Given the description of an element on the screen output the (x, y) to click on. 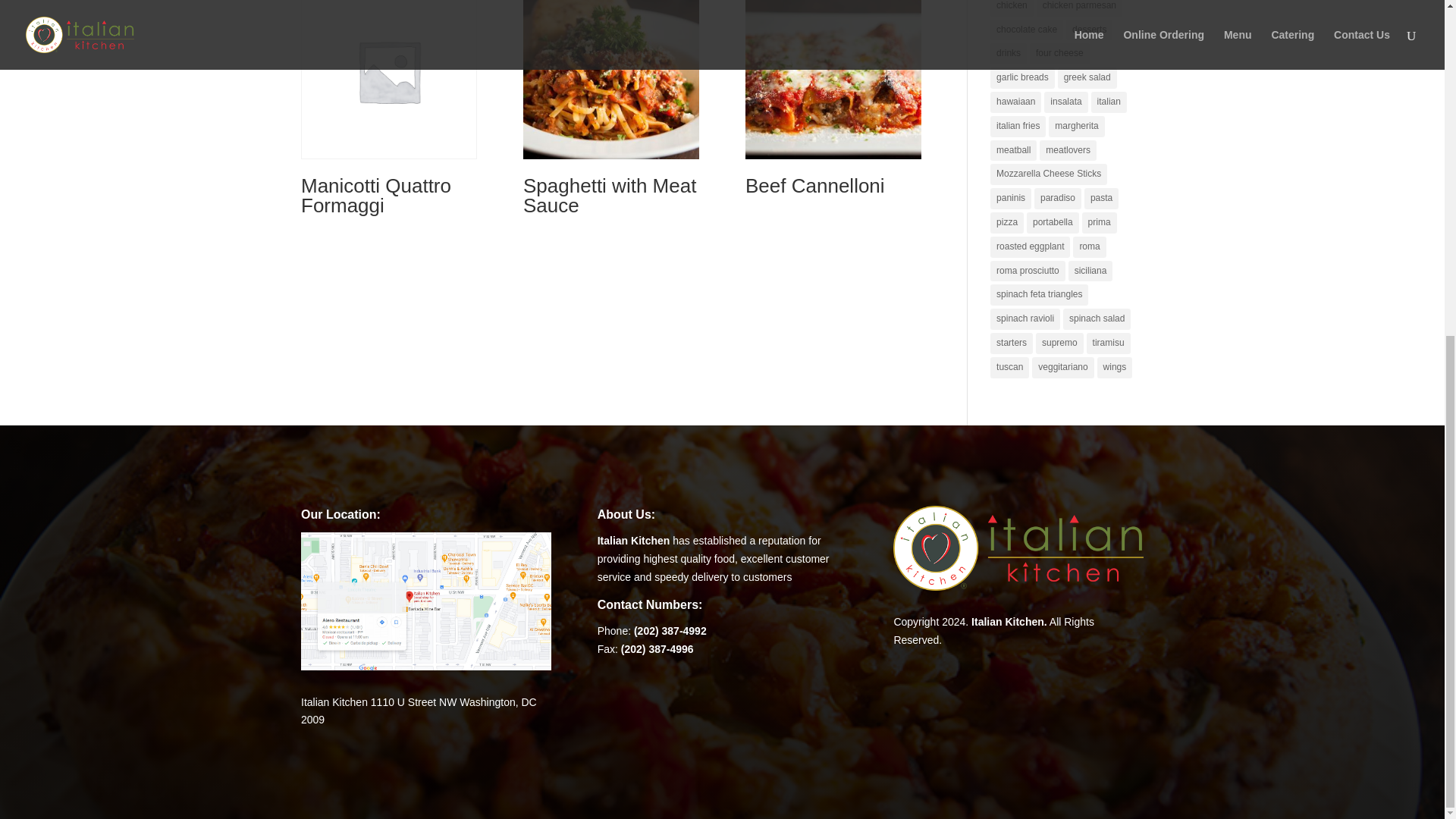
map (426, 601)
italiankitchenlogo (1017, 548)
